Given the description of an element on the screen output the (x, y) to click on. 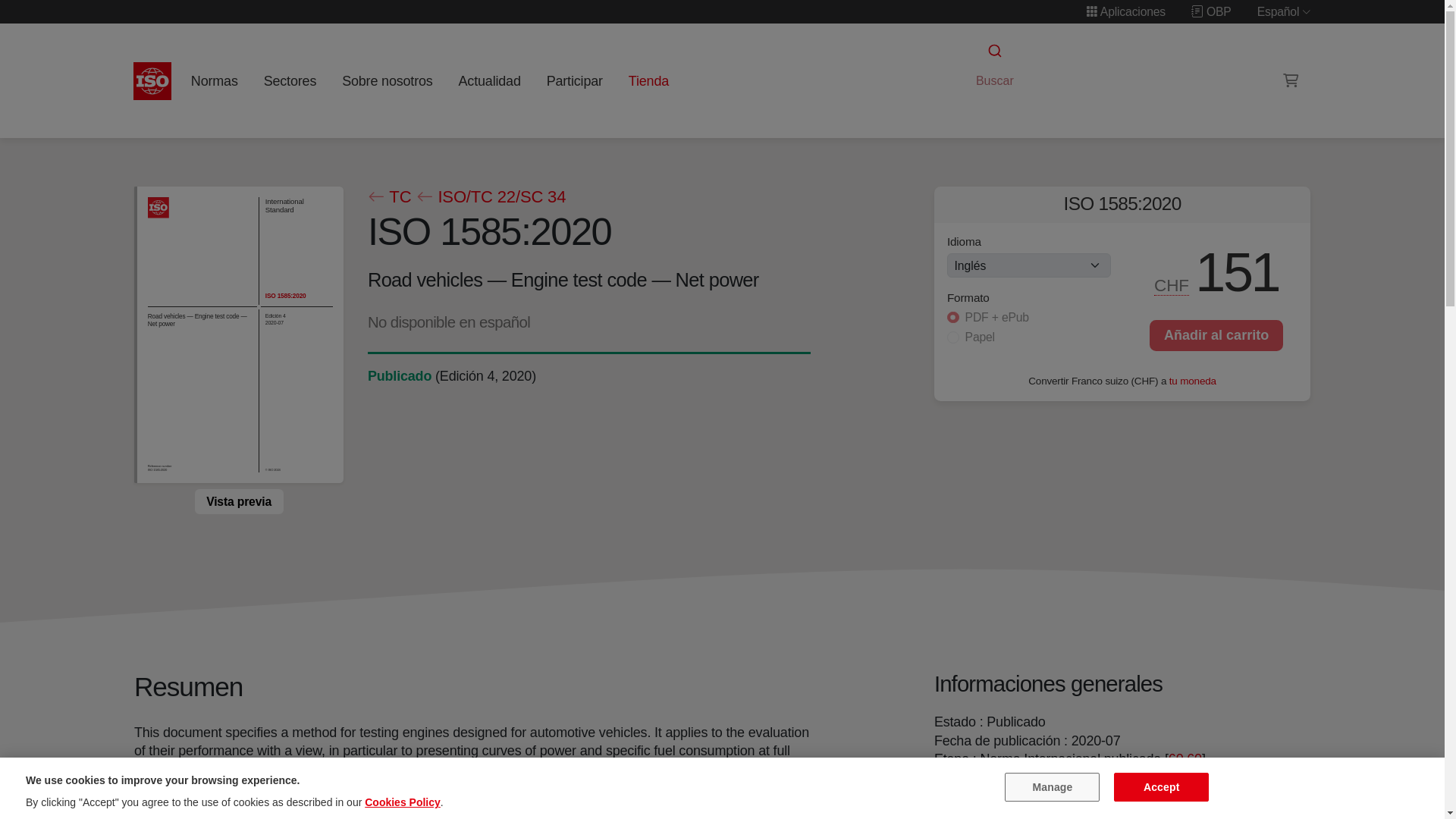
Publicado (398, 376)
60.60 (1185, 758)
 OBP (1211, 11)
TC (388, 197)
Francos suizos (1171, 285)
Vista previa (237, 501)
 Aplicaciones (1126, 11)
Sectores (290, 80)
Submit (993, 51)
Actualidad (489, 80)
Portal de aplicaciones de ISO (1126, 11)
tu moneda (1192, 379)
60.60 (1185, 758)
